Given the description of an element on the screen output the (x, y) to click on. 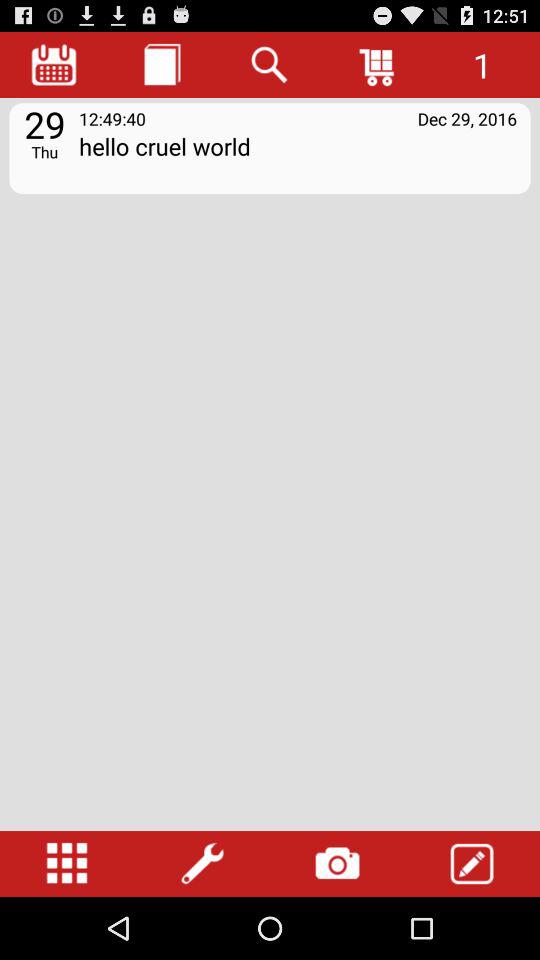
launch the item below hello cruel world (472, 863)
